Given the description of an element on the screen output the (x, y) to click on. 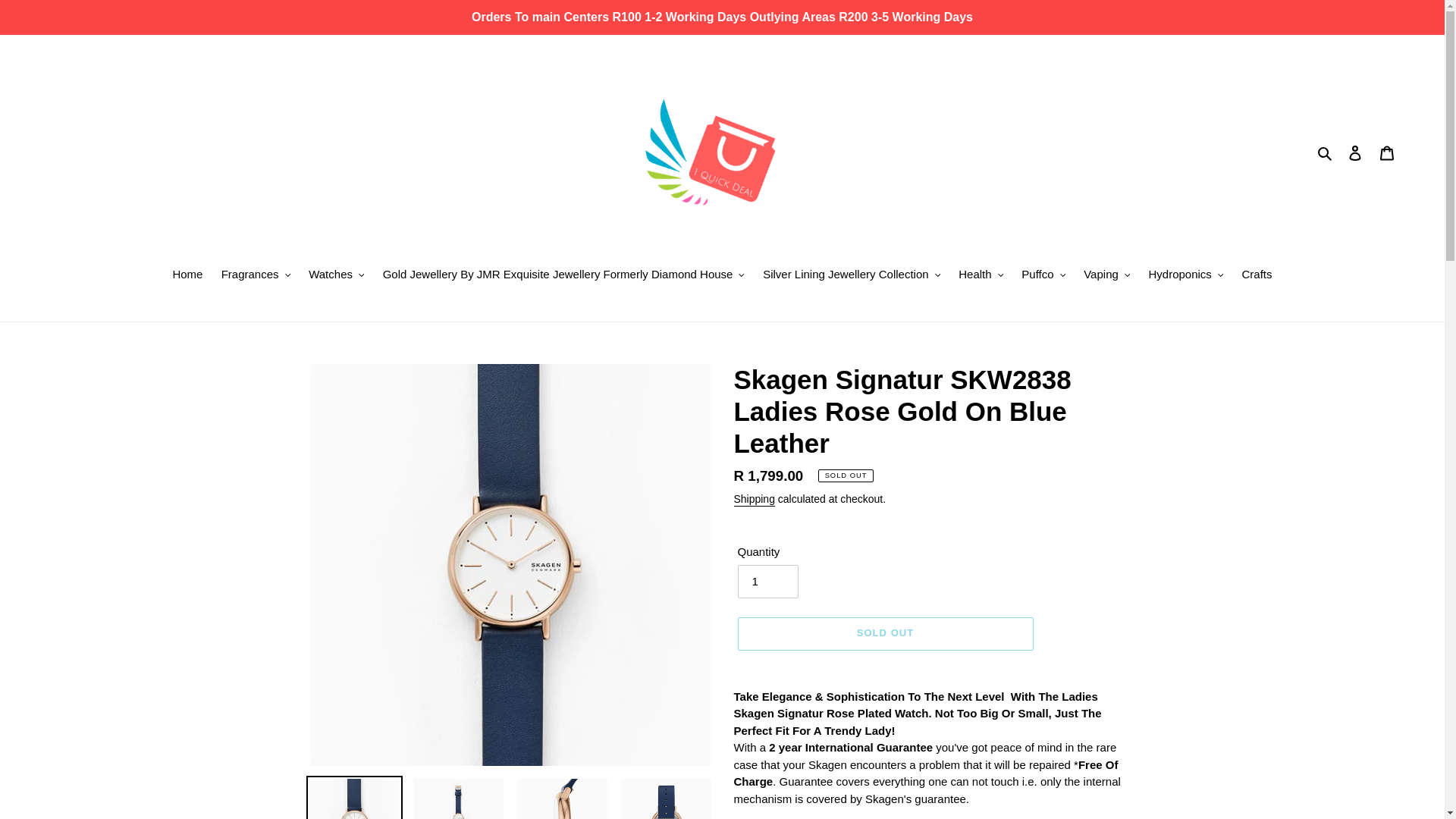
Cart (1387, 152)
Log in (1355, 152)
1 (766, 581)
Search (1326, 152)
